Given the description of an element on the screen output the (x, y) to click on. 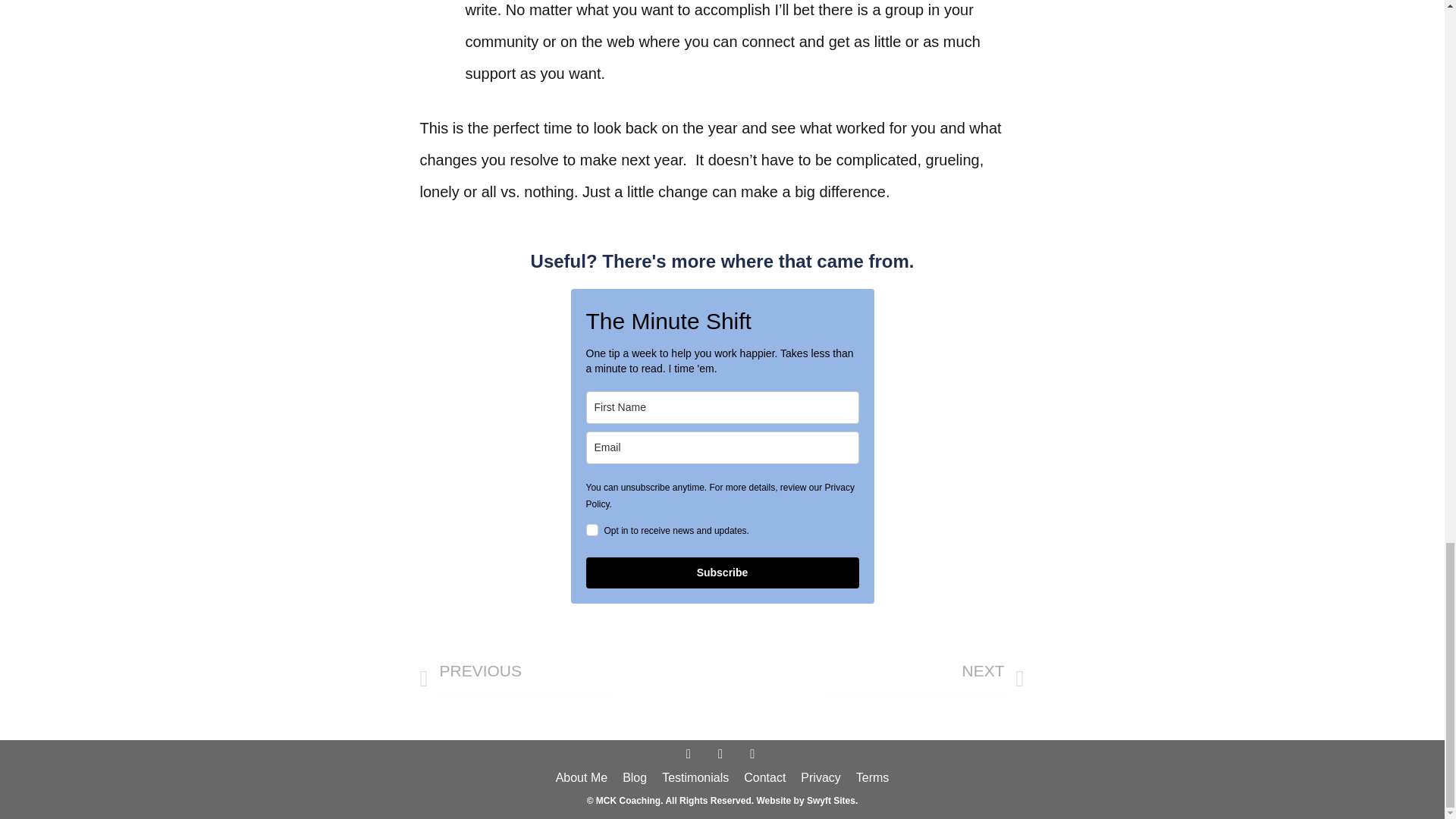
Privacy (820, 777)
Terms (872, 777)
About Me (581, 777)
Blog (633, 777)
Contact (764, 777)
Subscribe (722, 572)
Testimonials (694, 777)
